Given the description of an element on the screen output the (x, y) to click on. 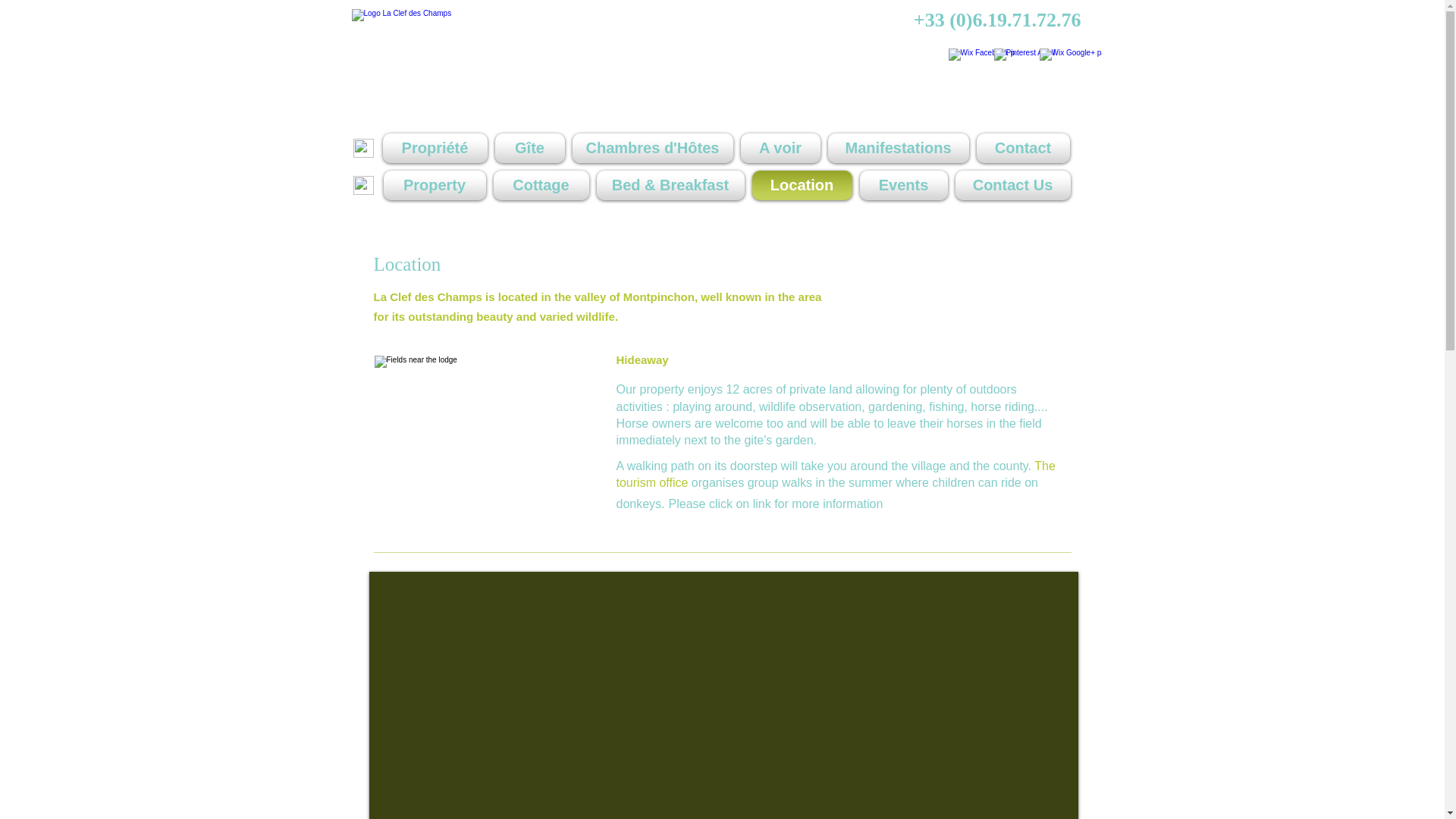
A voir (780, 147)
Manifestations (898, 147)
Property (436, 184)
Events (903, 184)
Location (802, 184)
Contact (1020, 147)
Cottage (540, 184)
Contact Us (1010, 184)
Please click on link for more information (775, 503)
La Clef des Champs (479, 62)
The tourism office (834, 473)
